Given the description of an element on the screen output the (x, y) to click on. 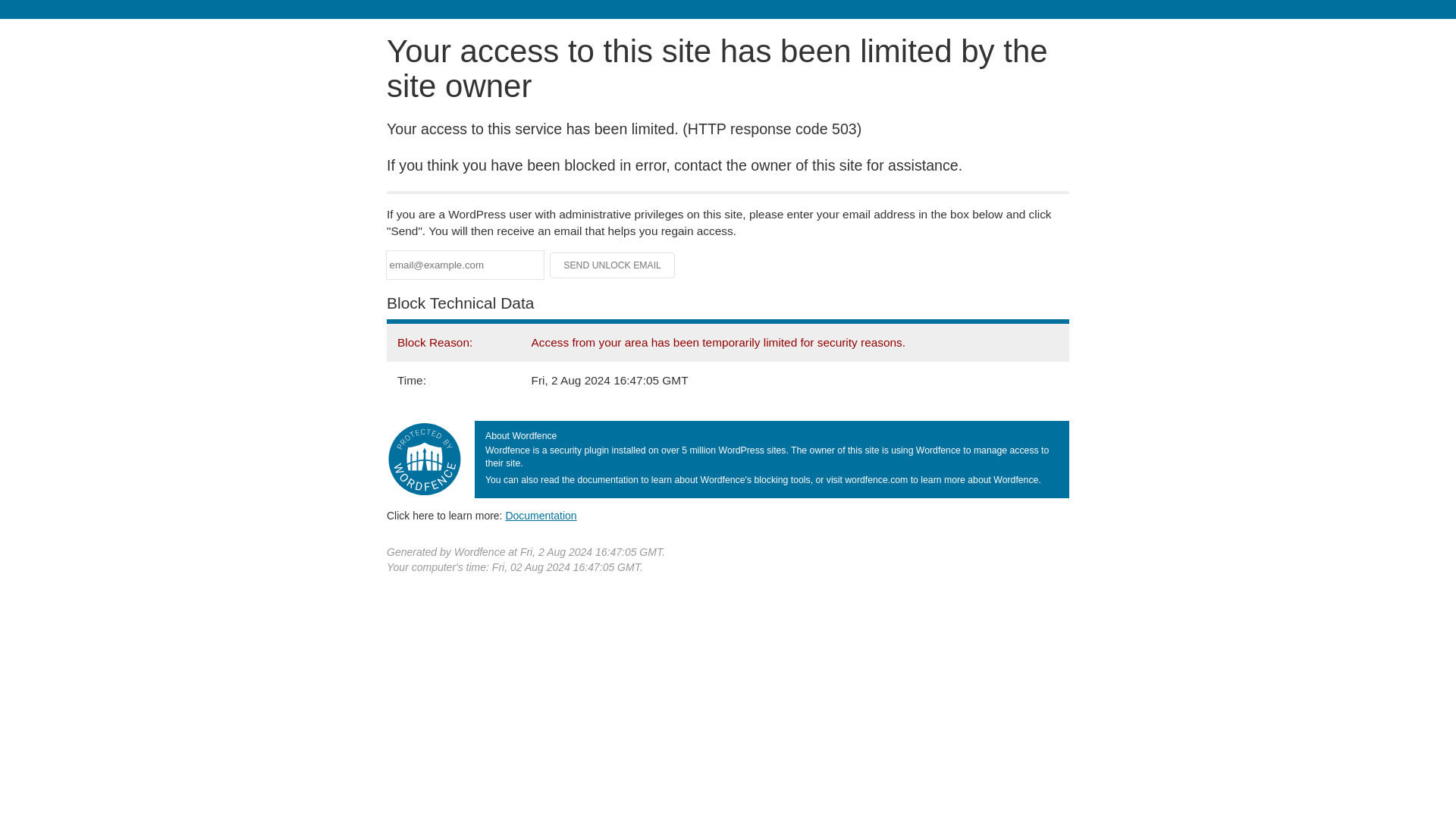
Send Unlock Email (612, 265)
Documentation (540, 515)
Send Unlock Email (612, 265)
